Given the description of an element on the screen output the (x, y) to click on. 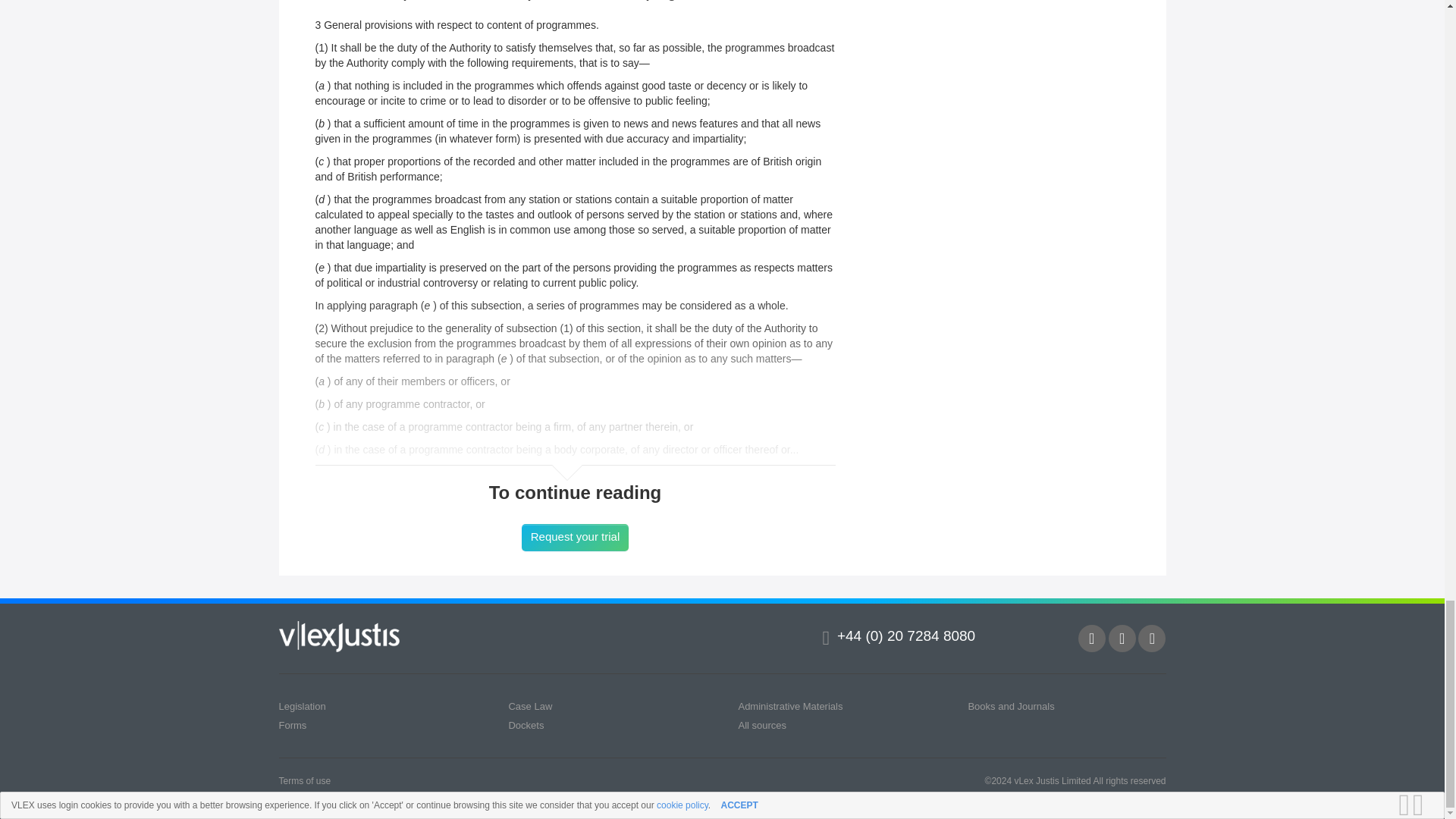
Forms (293, 725)
Forms (293, 725)
Terms of use (305, 780)
Legislation (302, 705)
Dockets (525, 725)
Terms of use (305, 780)
Administrative Materials (790, 705)
Legislation (302, 705)
Dockets (525, 725)
All sources (762, 725)
Case Law (529, 705)
Books and Journals (1011, 705)
Administrative Materials (790, 705)
Books and Journals (1011, 705)
All sources (762, 725)
